Given the description of an element on the screen output the (x, y) to click on. 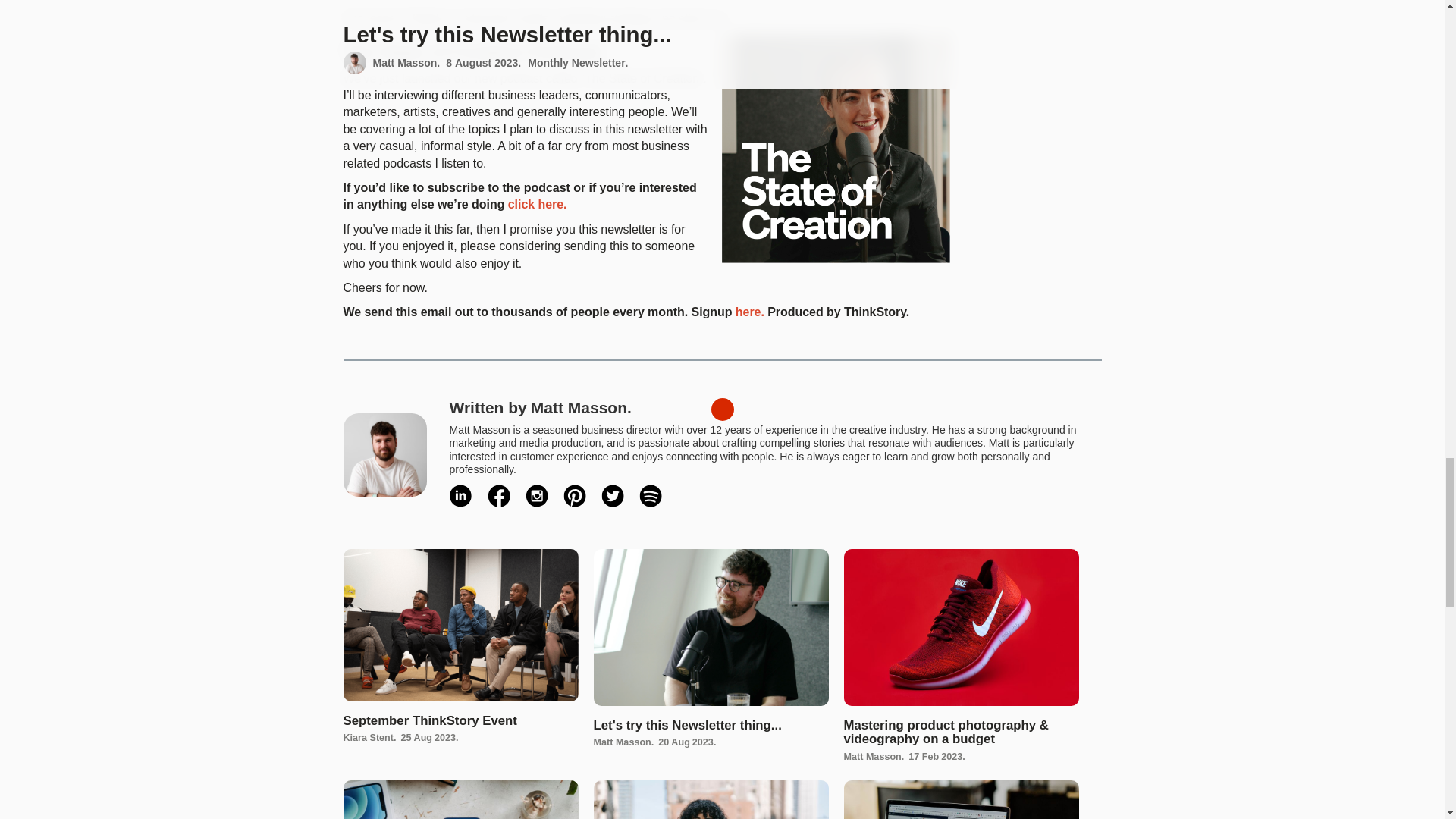
here. (749, 313)
click here. (537, 206)
